Given the description of an element on the screen output the (x, y) to click on. 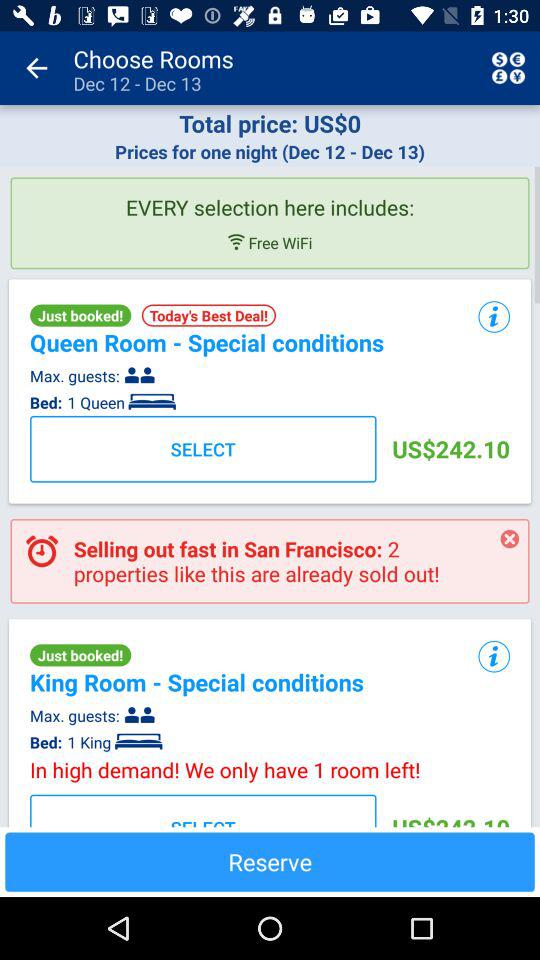
turn off the item to the right of just booked! (208, 315)
